Given the description of an element on the screen output the (x, y) to click on. 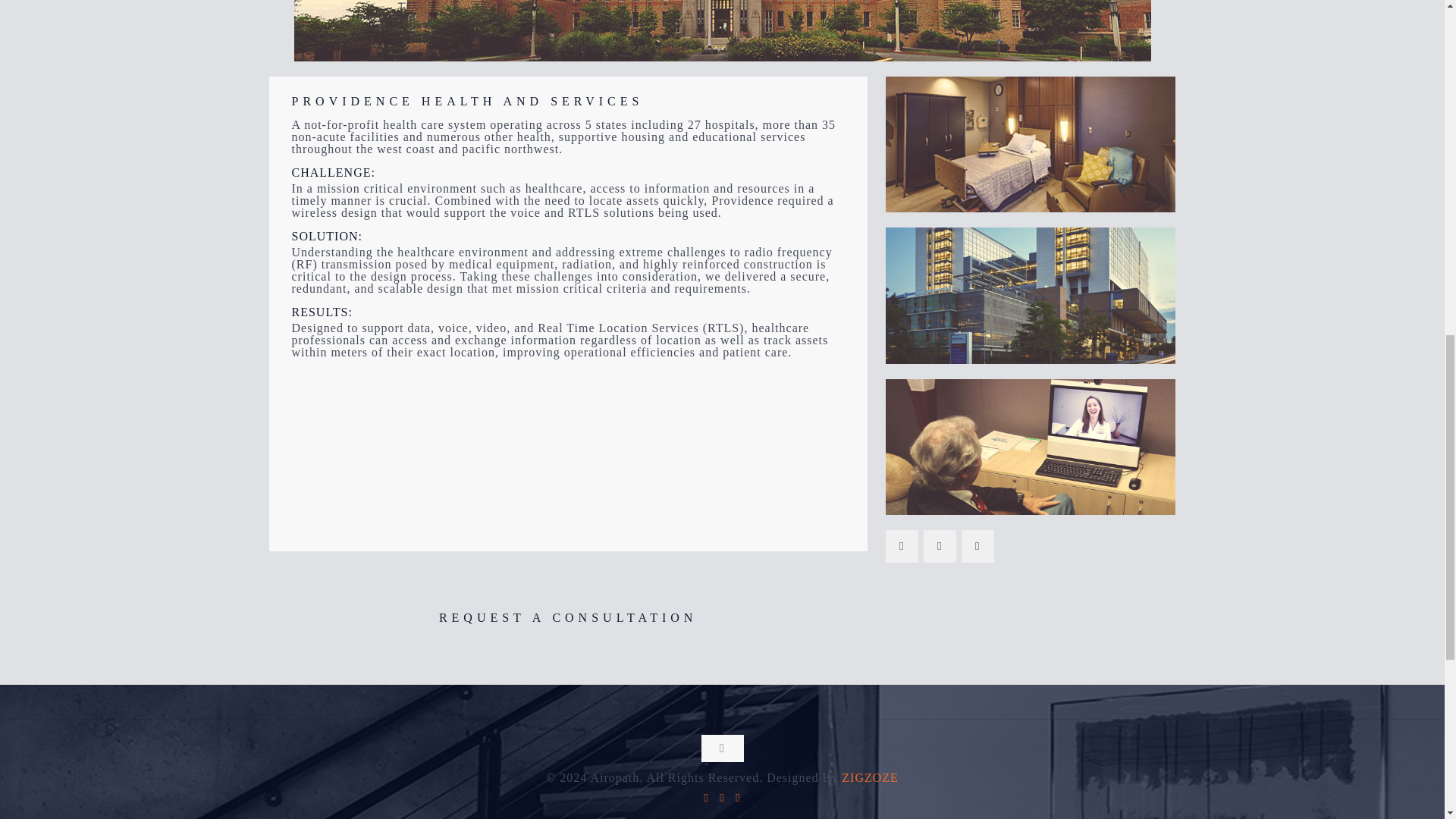
REQUEST A CONSULTATION (566, 617)
